Given the description of an element on the screen output the (x, y) to click on. 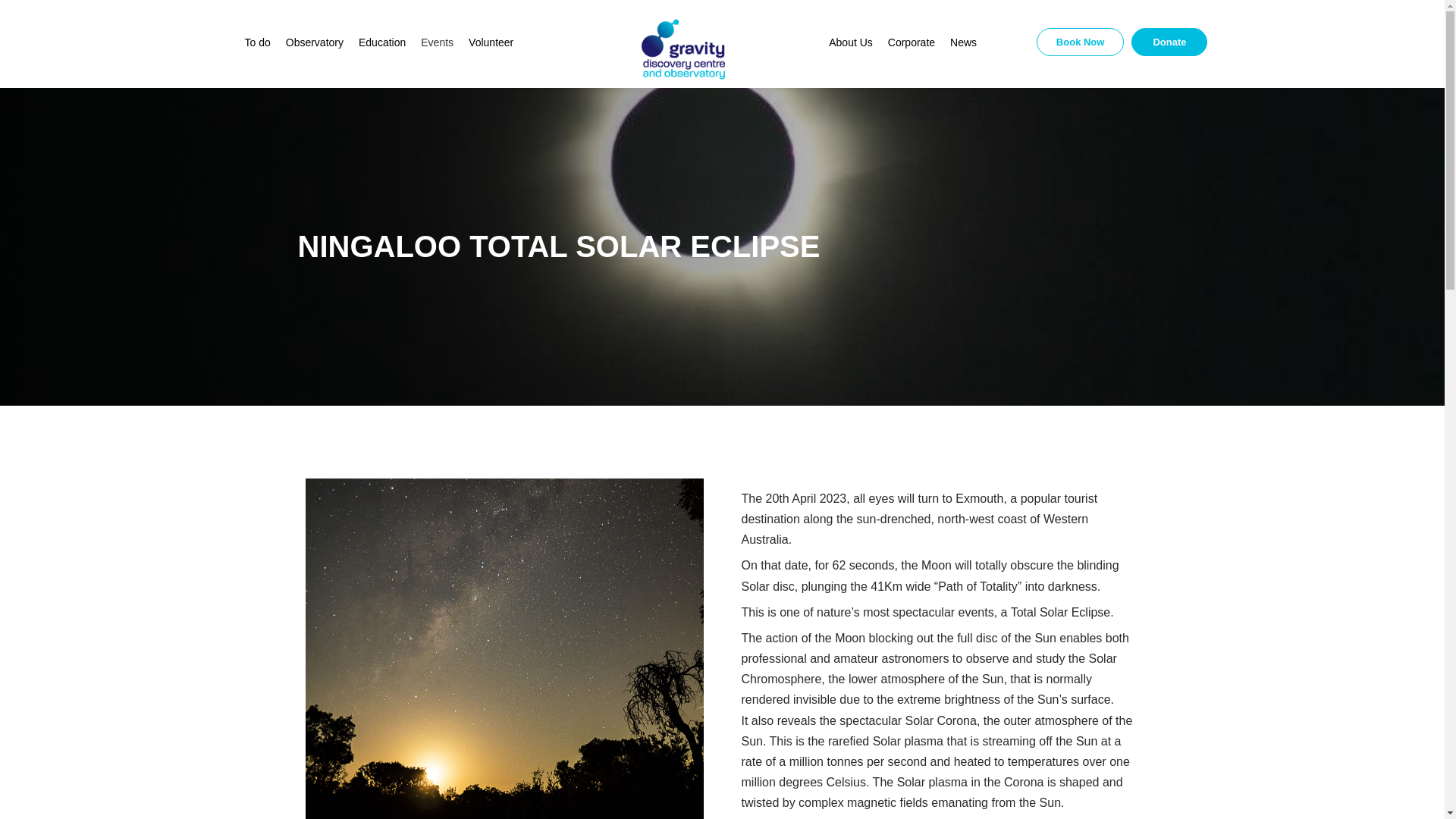
Education (381, 42)
Events (437, 42)
To do (256, 42)
Volunteer (491, 42)
Observatory (314, 42)
